Given the description of an element on the screen output the (x, y) to click on. 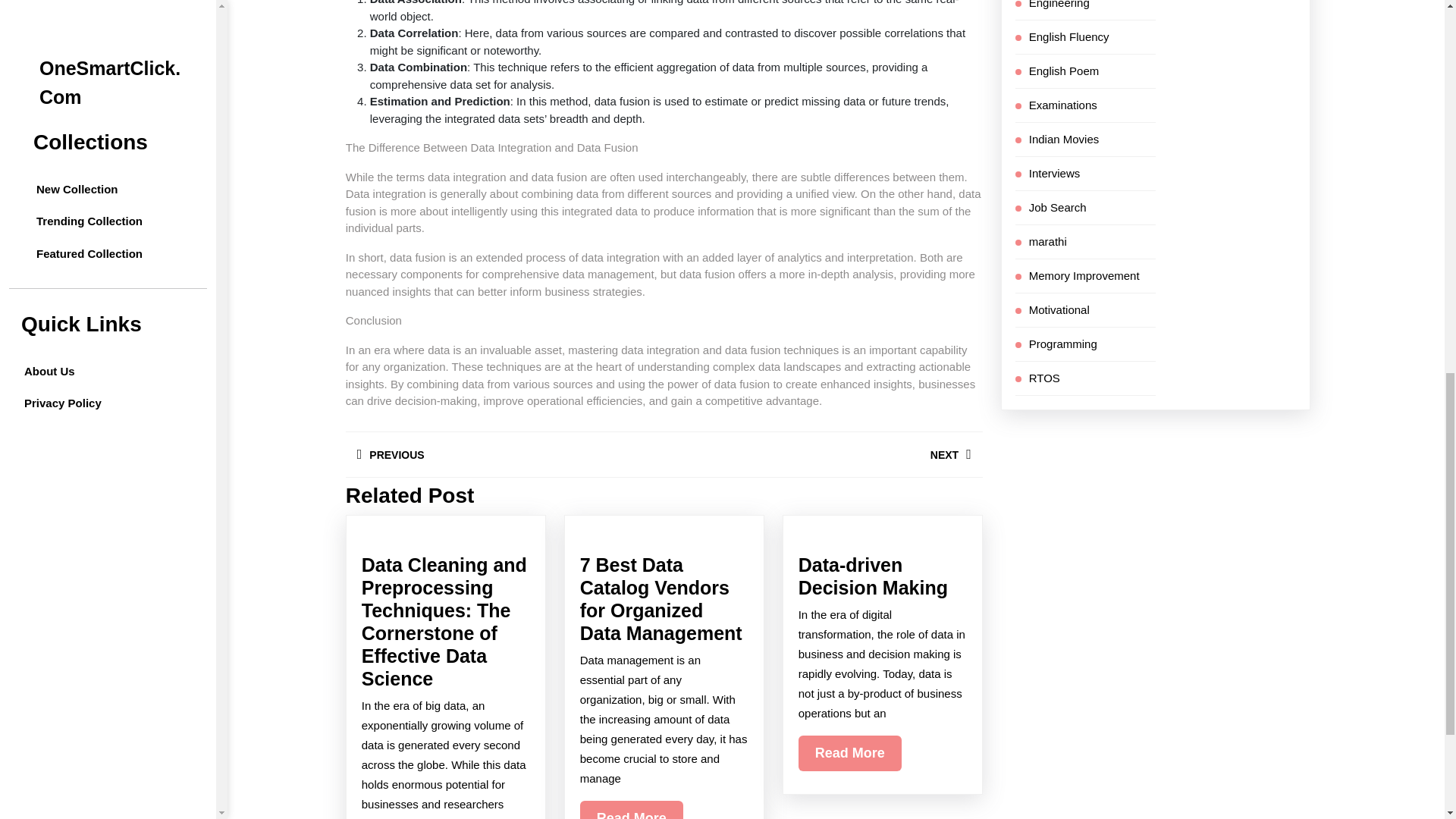
Examinations (504, 454)
Interviews (1063, 104)
Indian Movies (1054, 173)
English Poem (1064, 137)
English Fluency (1064, 69)
Engineering (1069, 36)
